Given the description of an element on the screen output the (x, y) to click on. 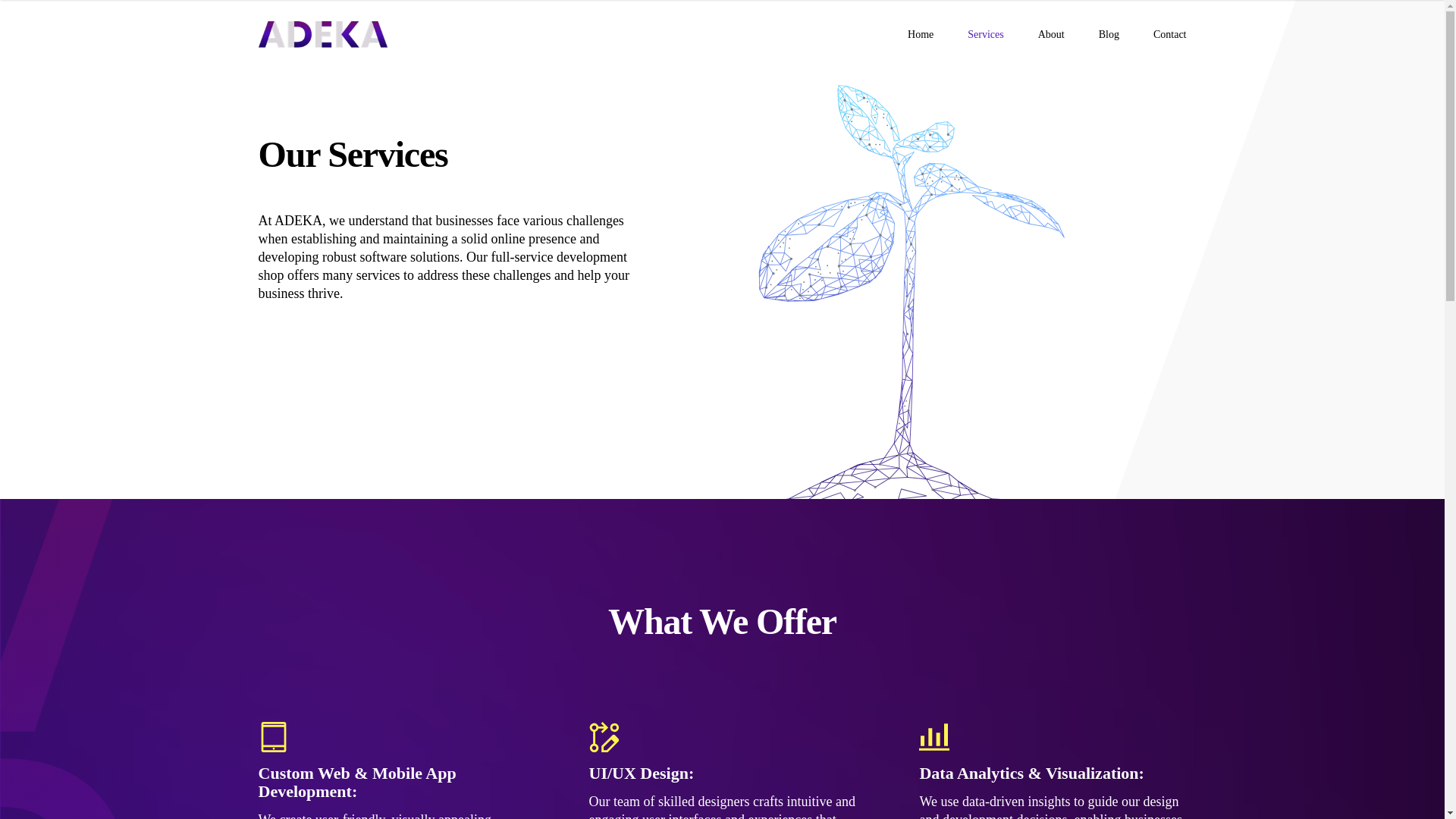
Home (920, 34)
About (1051, 34)
Services (985, 34)
Blog (1109, 34)
Blog (1109, 34)
Contact (1169, 34)
Services (985, 34)
Home (920, 34)
Contact (1169, 34)
Home (322, 34)
About (1051, 34)
